Given the description of an element on the screen output the (x, y) to click on. 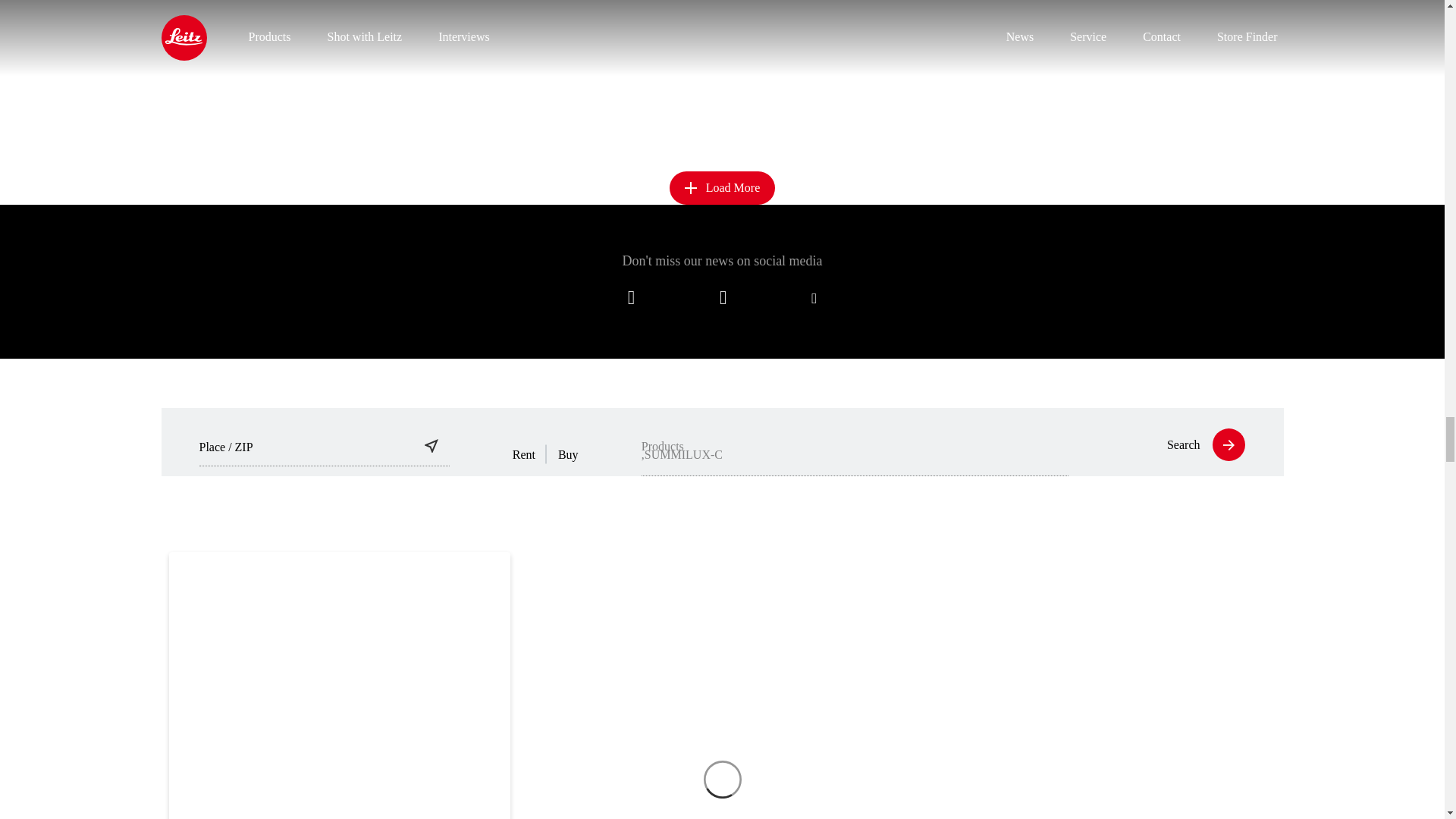
Search (1197, 444)
Load More (722, 187)
Near Me (431, 445)
,SUMMILUX-C (855, 450)
